Given the description of an element on the screen output the (x, y) to click on. 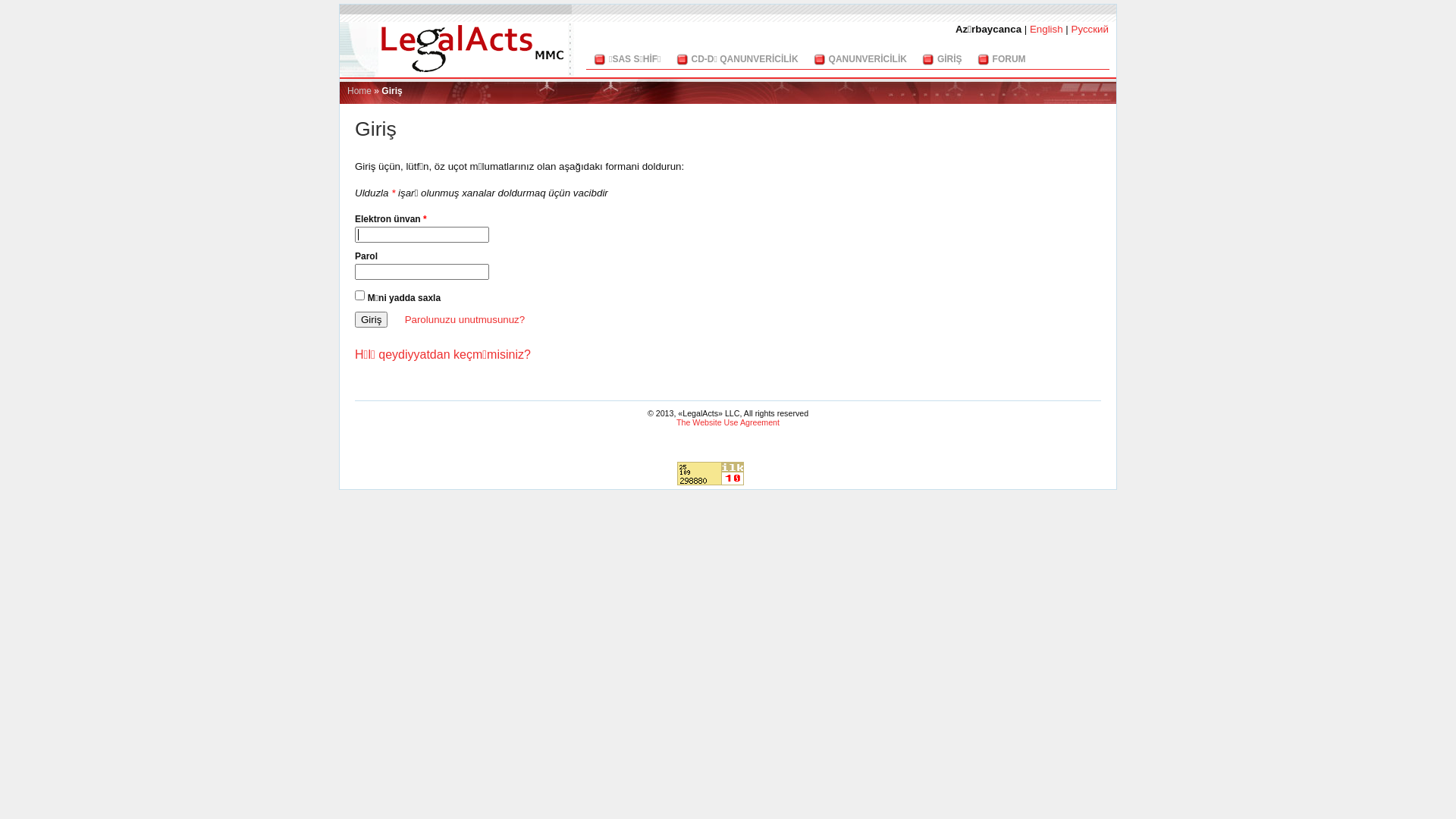
The Website Use Agreement Element type: text (727, 421)
LiveInternet Element type: hover (766, 473)
Home Element type: text (359, 90)
English Element type: text (1046, 28)
FORUM Element type: text (1009, 59)
Parolunuzu unutmusunuz? Element type: text (464, 319)
